Given the description of an element on the screen output the (x, y) to click on. 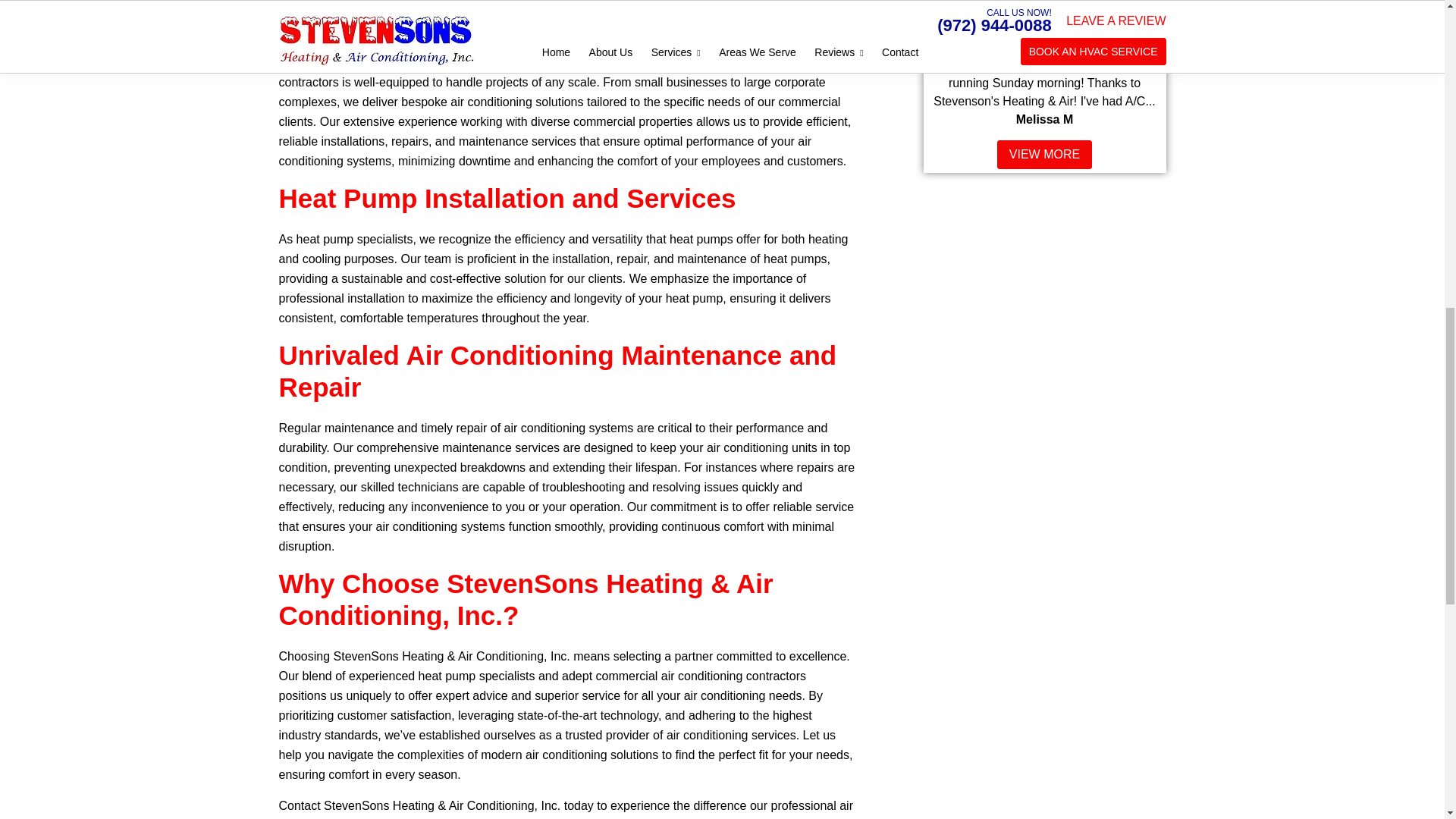
VIEW MORE (1044, 154)
